Given the description of an element on the screen output the (x, y) to click on. 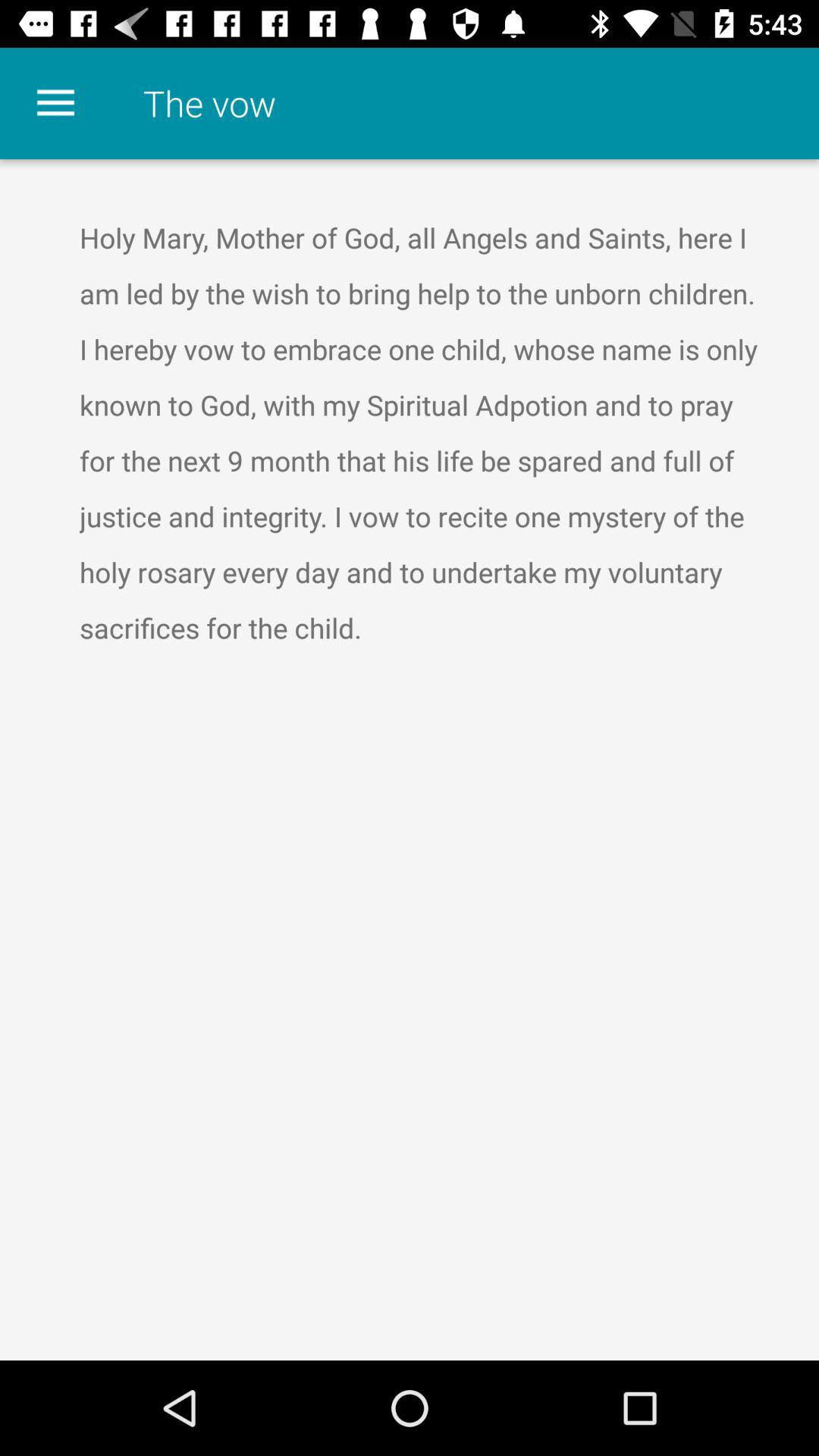
tap the icon next to the vow item (55, 103)
